Given the description of an element on the screen output the (x, y) to click on. 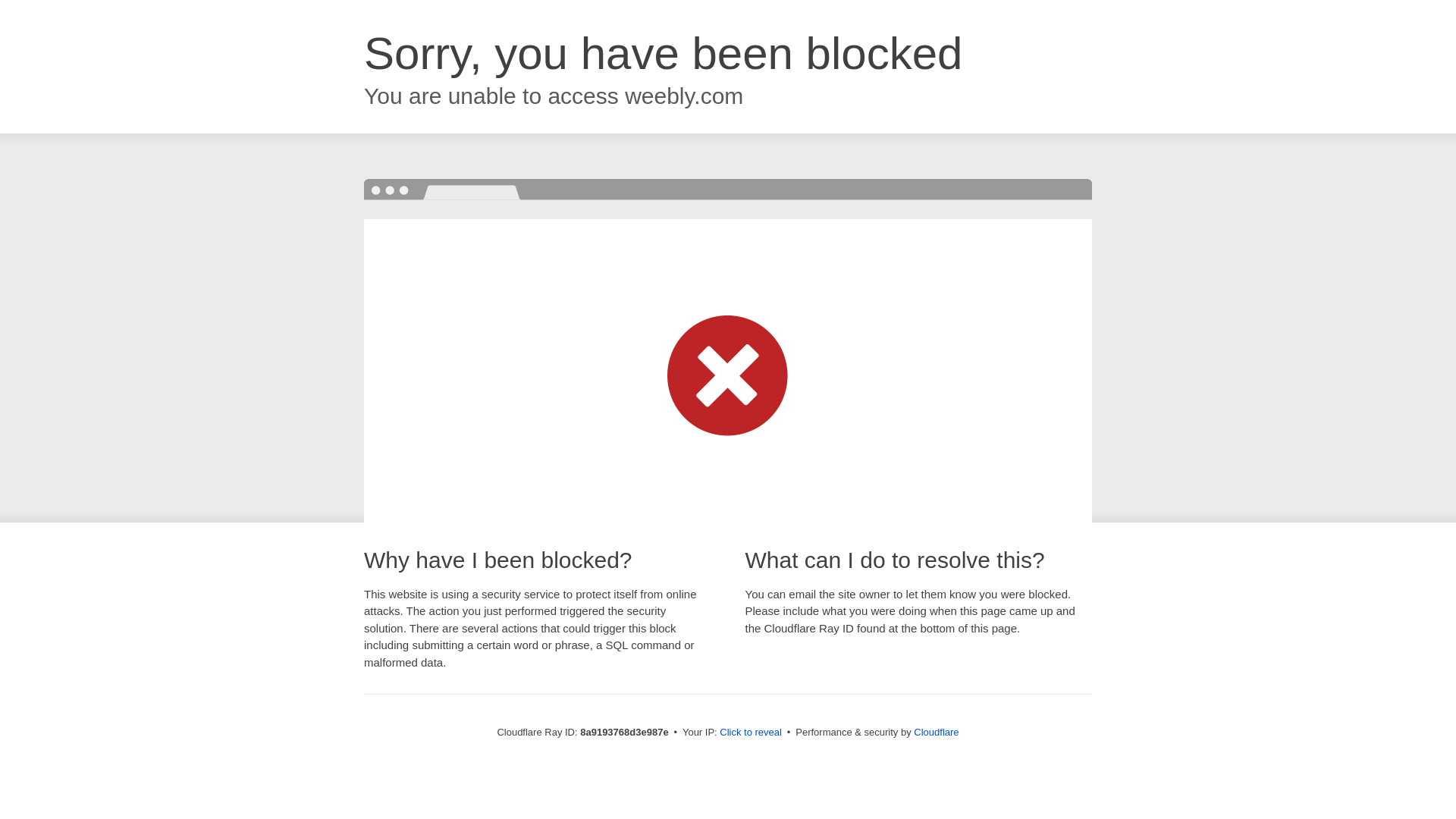
Click to reveal (750, 732)
Cloudflare (936, 731)
